Given the description of an element on the screen output the (x, y) to click on. 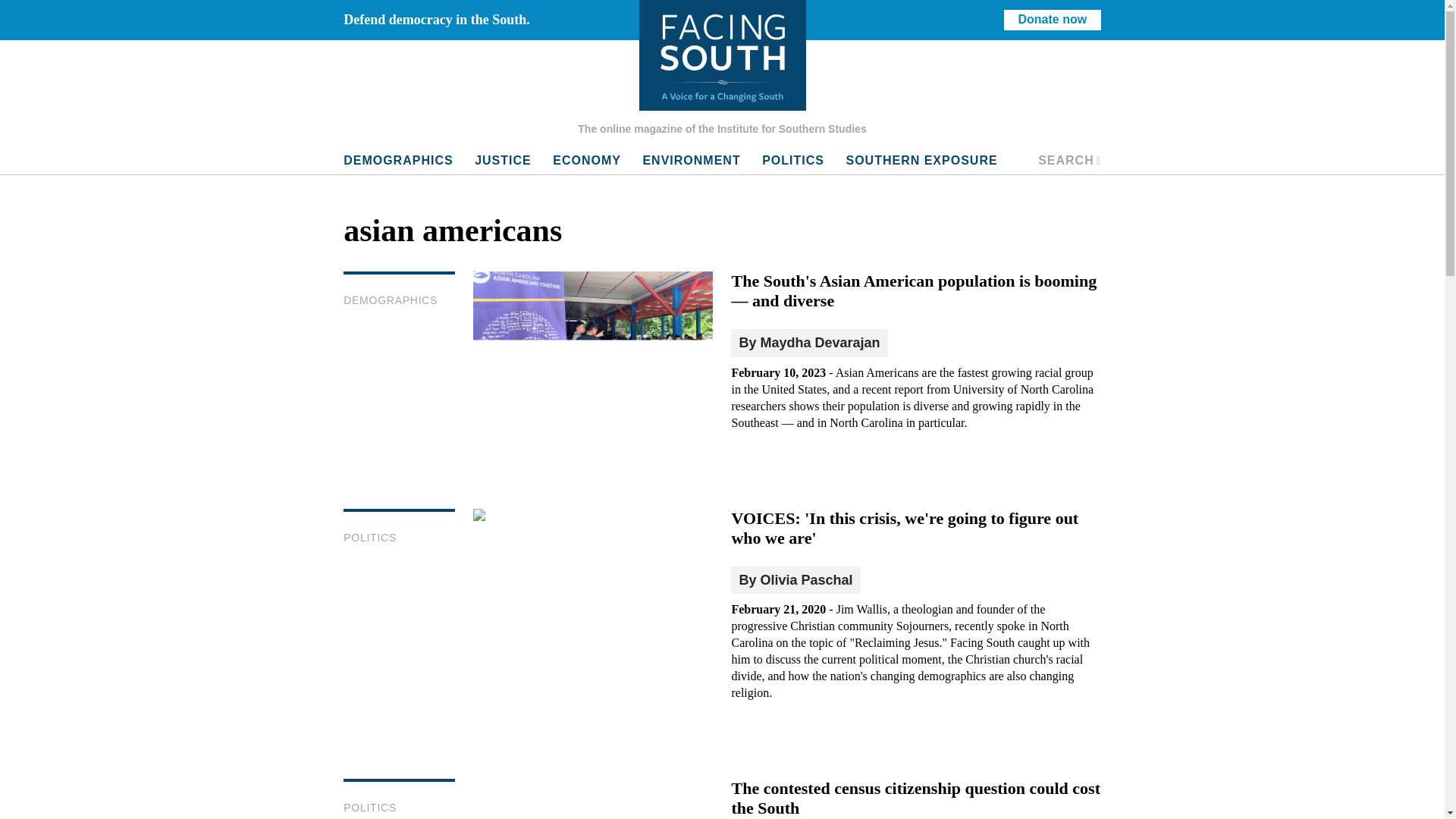
SOUTHERN EXPOSURE (920, 160)
ENVIRONMENT (691, 160)
Maydha Devarajan (819, 342)
POLITICS (369, 537)
POLITICS (369, 807)
DEMOGRAPHICS (390, 300)
DEMOGRAPHICS (397, 160)
Home (722, 55)
